Given the description of an element on the screen output the (x, y) to click on. 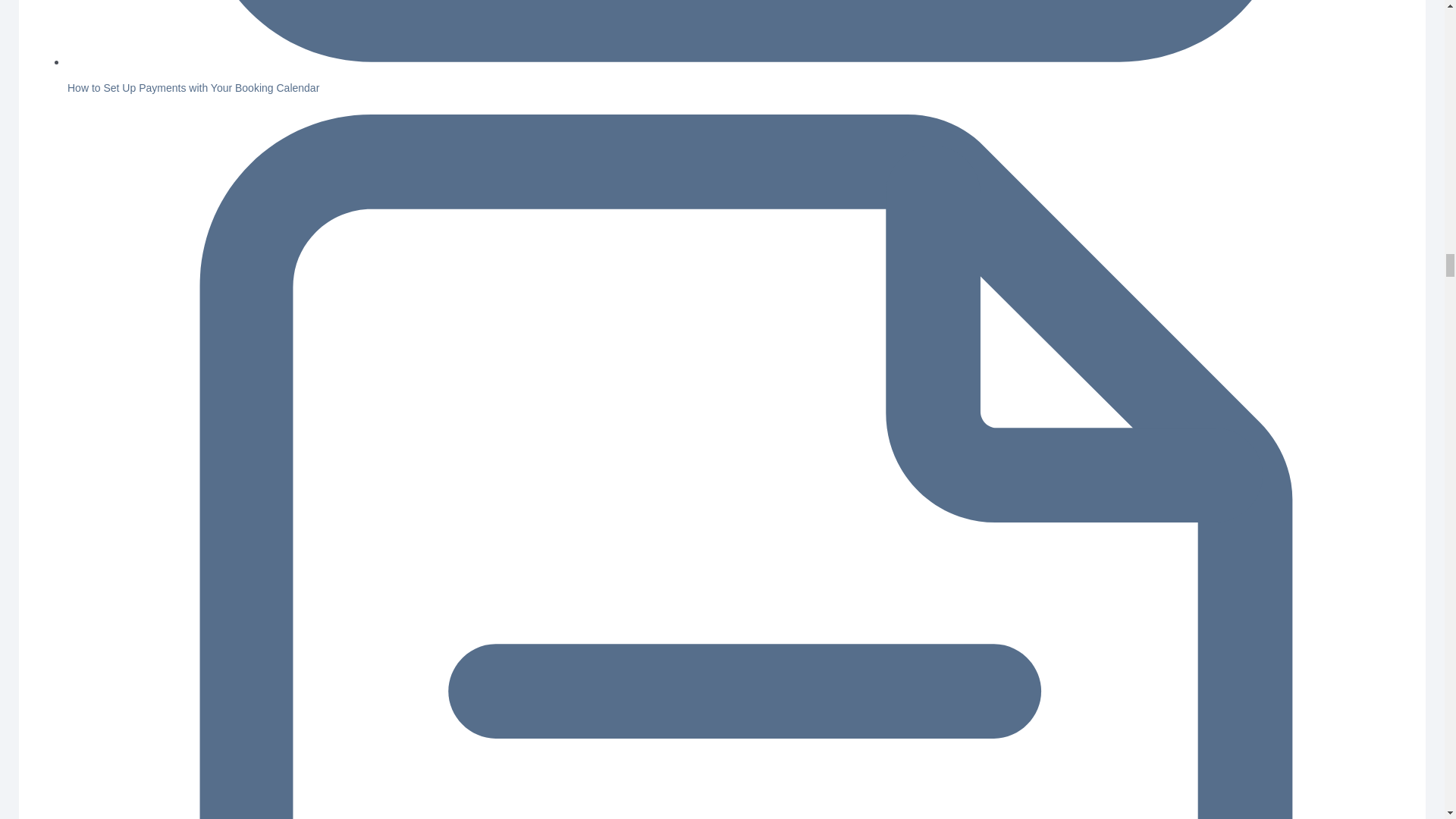
How to Set Up Payments with Your Booking Calendar (192, 87)
